Given the description of an element on the screen output the (x, y) to click on. 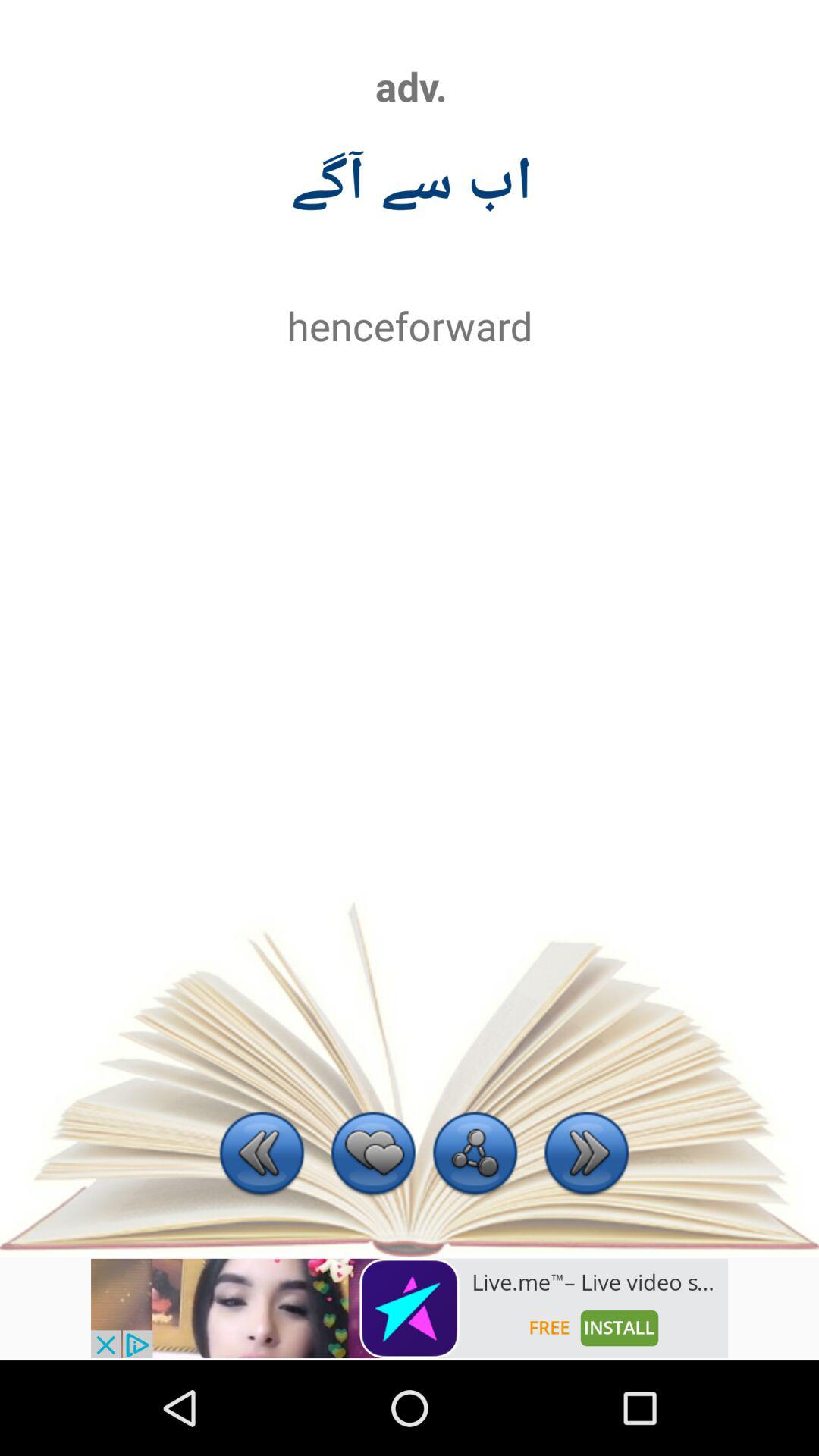
install app (409, 1308)
